Given the description of an element on the screen output the (x, y) to click on. 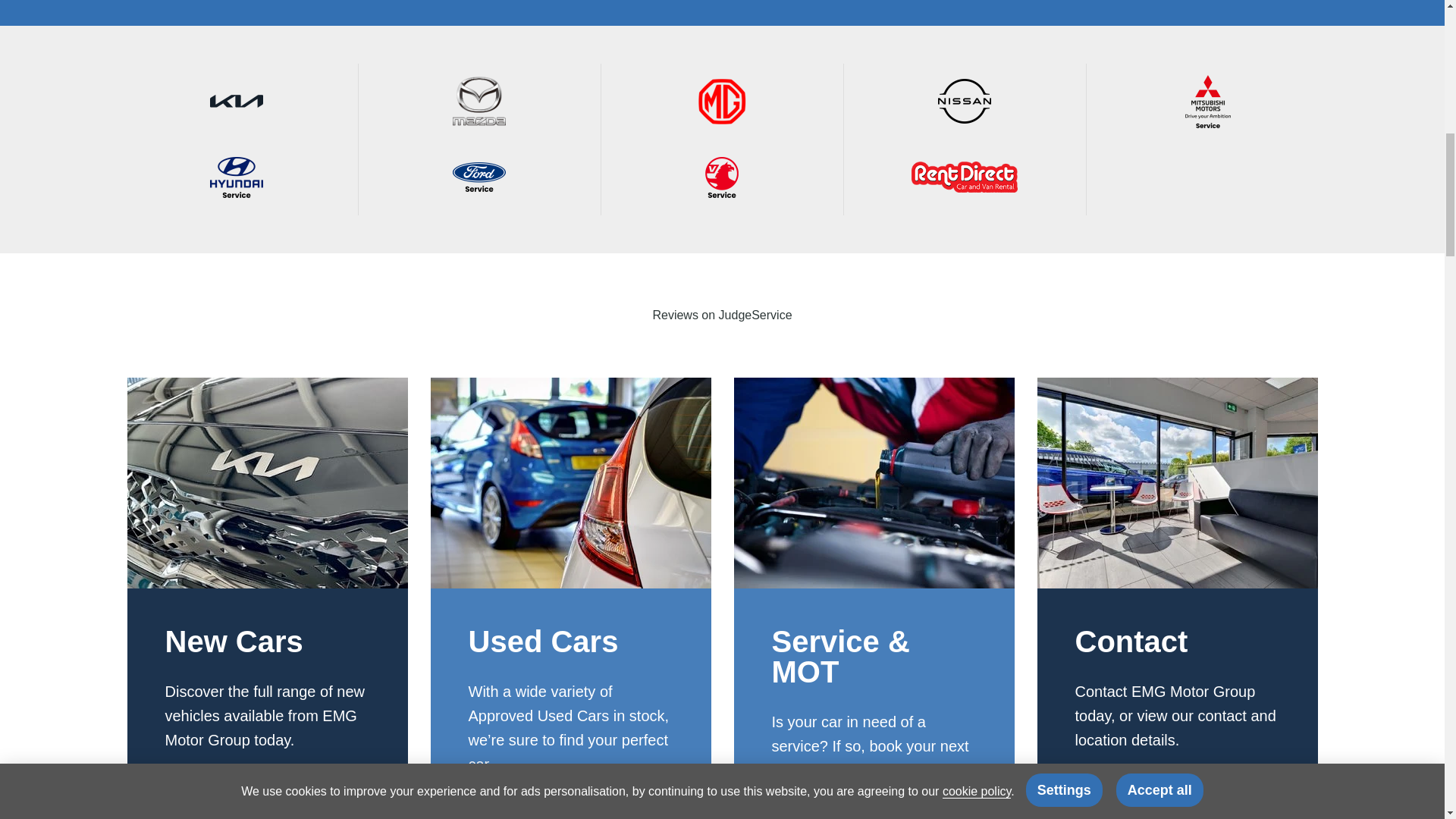
Reviews on JudgeService (722, 314)
